Given the description of an element on the screen output the (x, y) to click on. 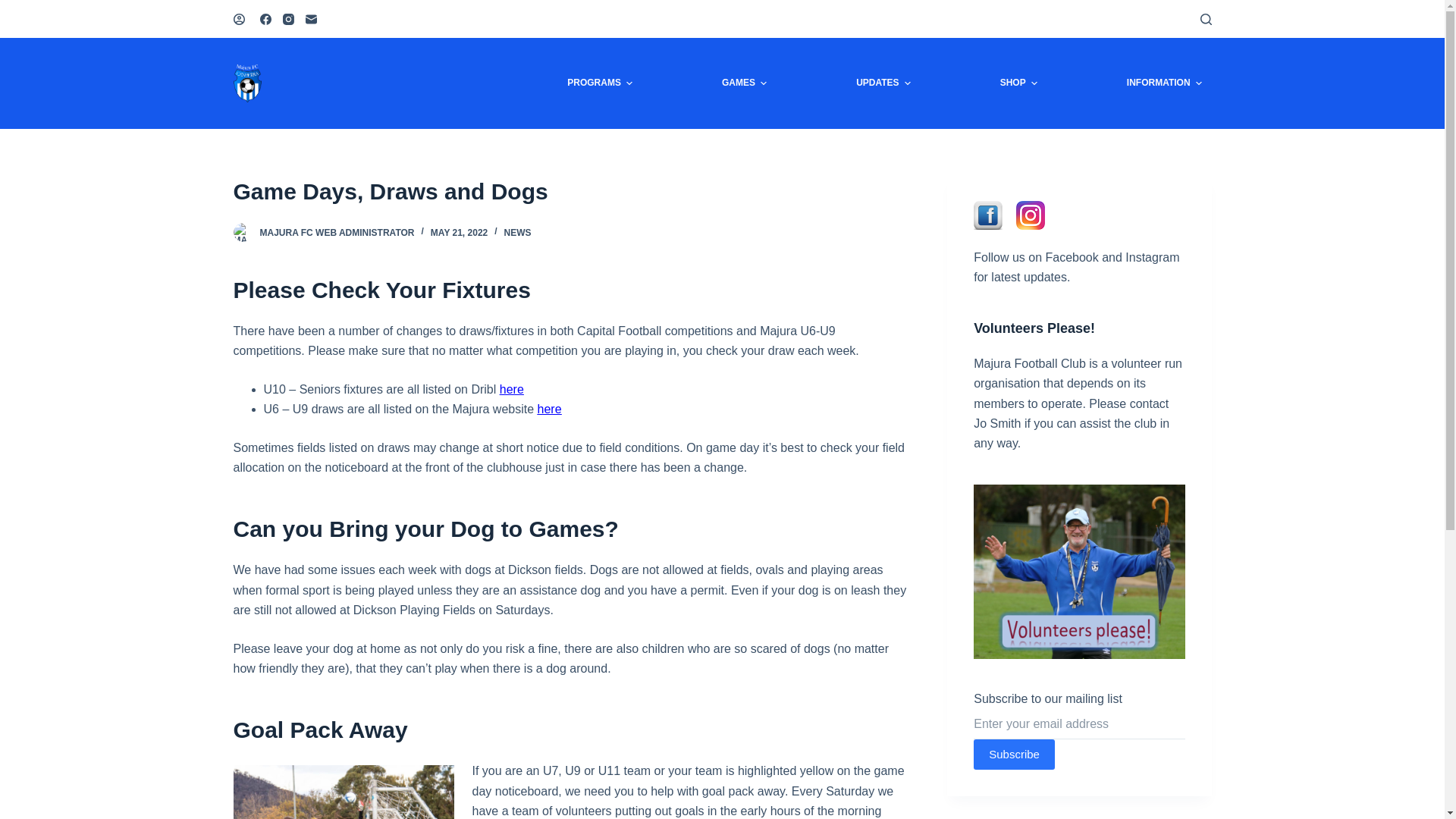
here Element type: text (511, 388)
SHOP Element type: text (1018, 82)
Jo Smith Element type: text (996, 423)
INFORMATION Element type: text (1164, 82)
here Element type: text (549, 408)
UPDATES Element type: text (883, 82)
PROGRAMS Element type: text (600, 82)
NEWS Element type: text (517, 232)
Find us on Facebook Element type: hover (987, 213)
Skip to content Element type: text (15, 7)
GAMES Element type: text (744, 82)
Subscribe Element type: text (1013, 754)
Follow us on Instagram Element type: hover (1030, 213)
MAJURA FC WEB ADMINISTRATOR Element type: text (336, 232)
